Given the description of an element on the screen output the (x, y) to click on. 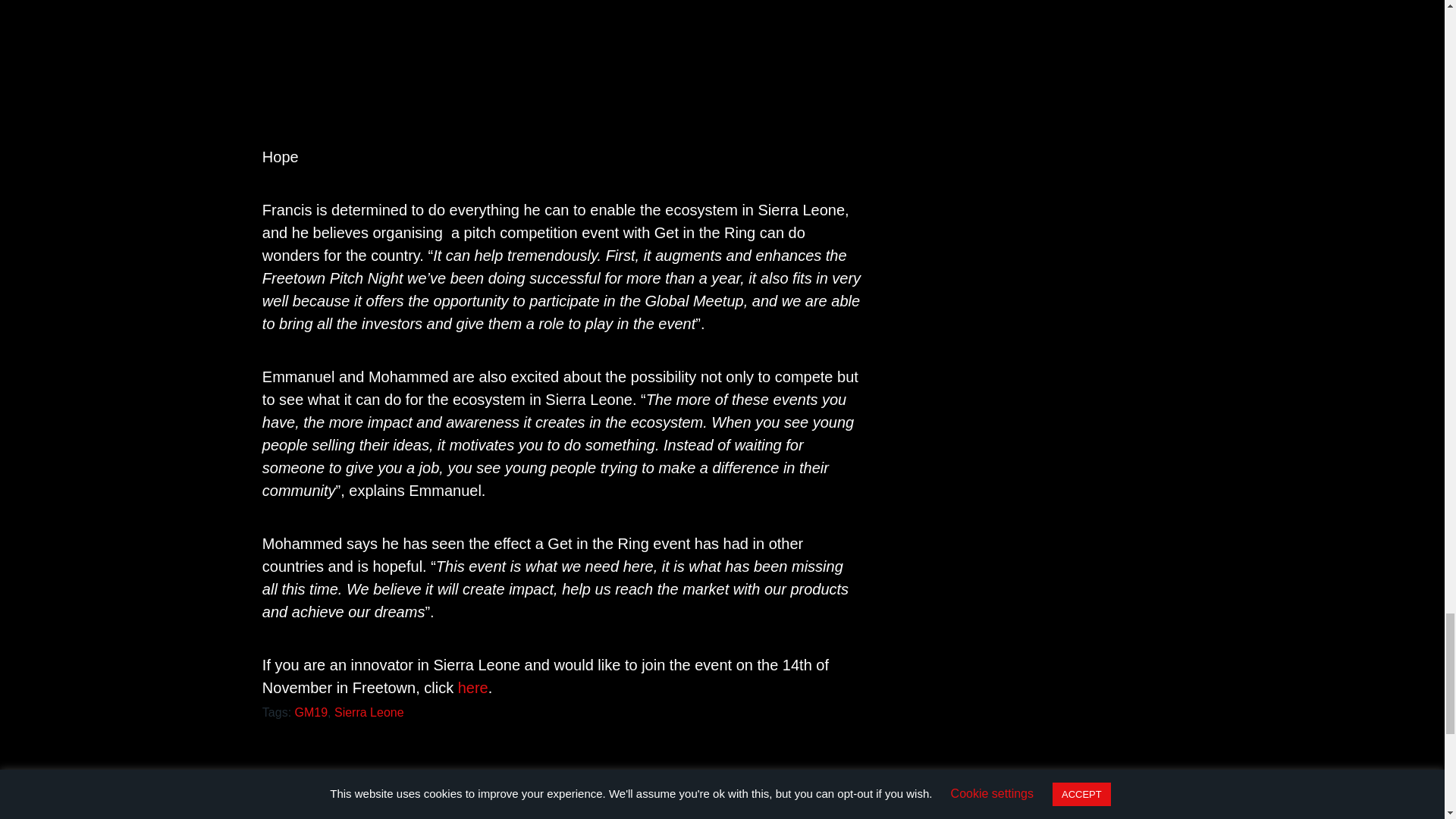
GM19 (312, 712)
here (472, 687)
Sierra Leone (369, 712)
